Given the description of an element on the screen output the (x, y) to click on. 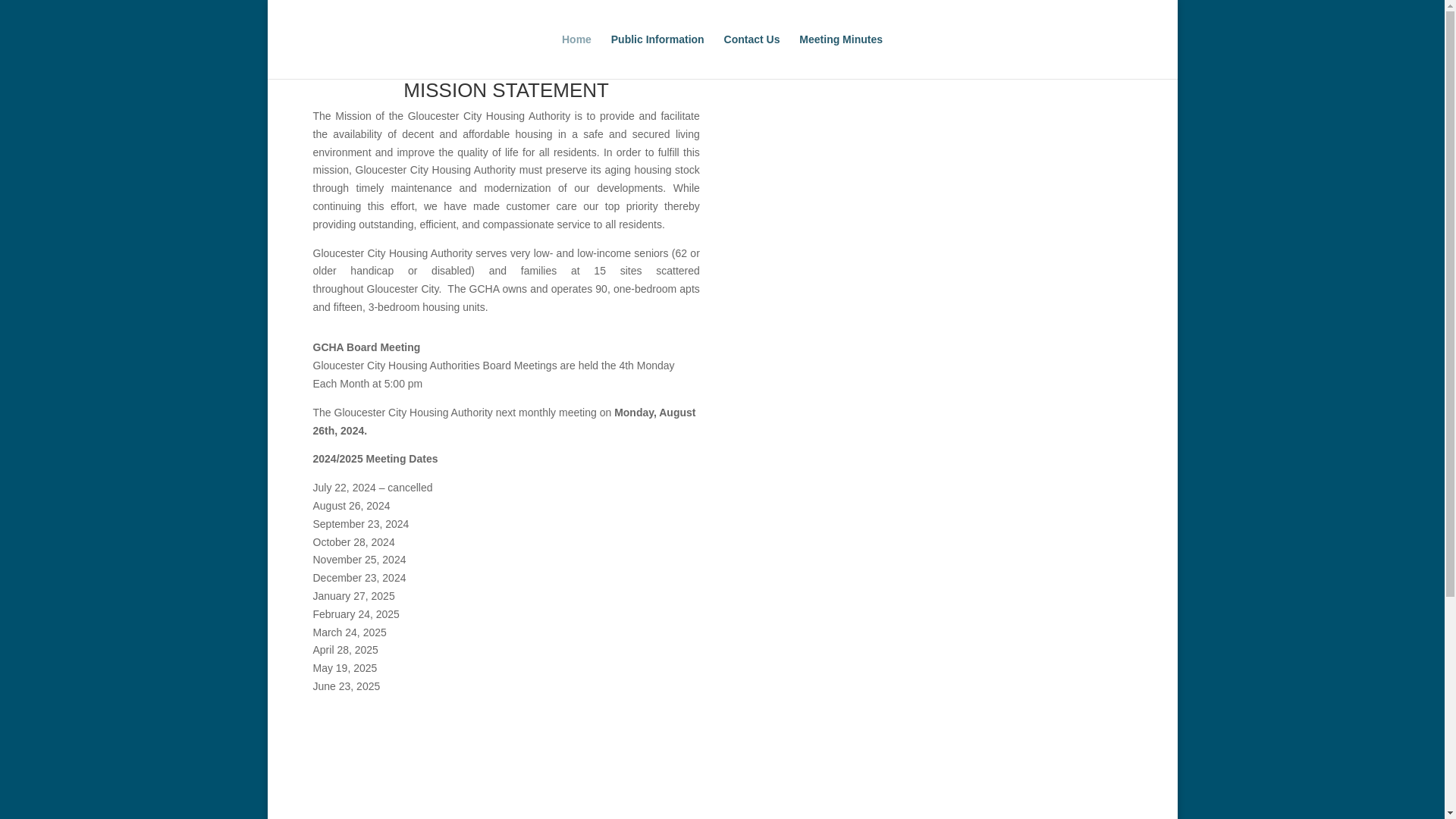
Public Information (657, 56)
Contact Us (751, 56)
Meeting Minutes (840, 56)
